Given the description of an element on the screen output the (x, y) to click on. 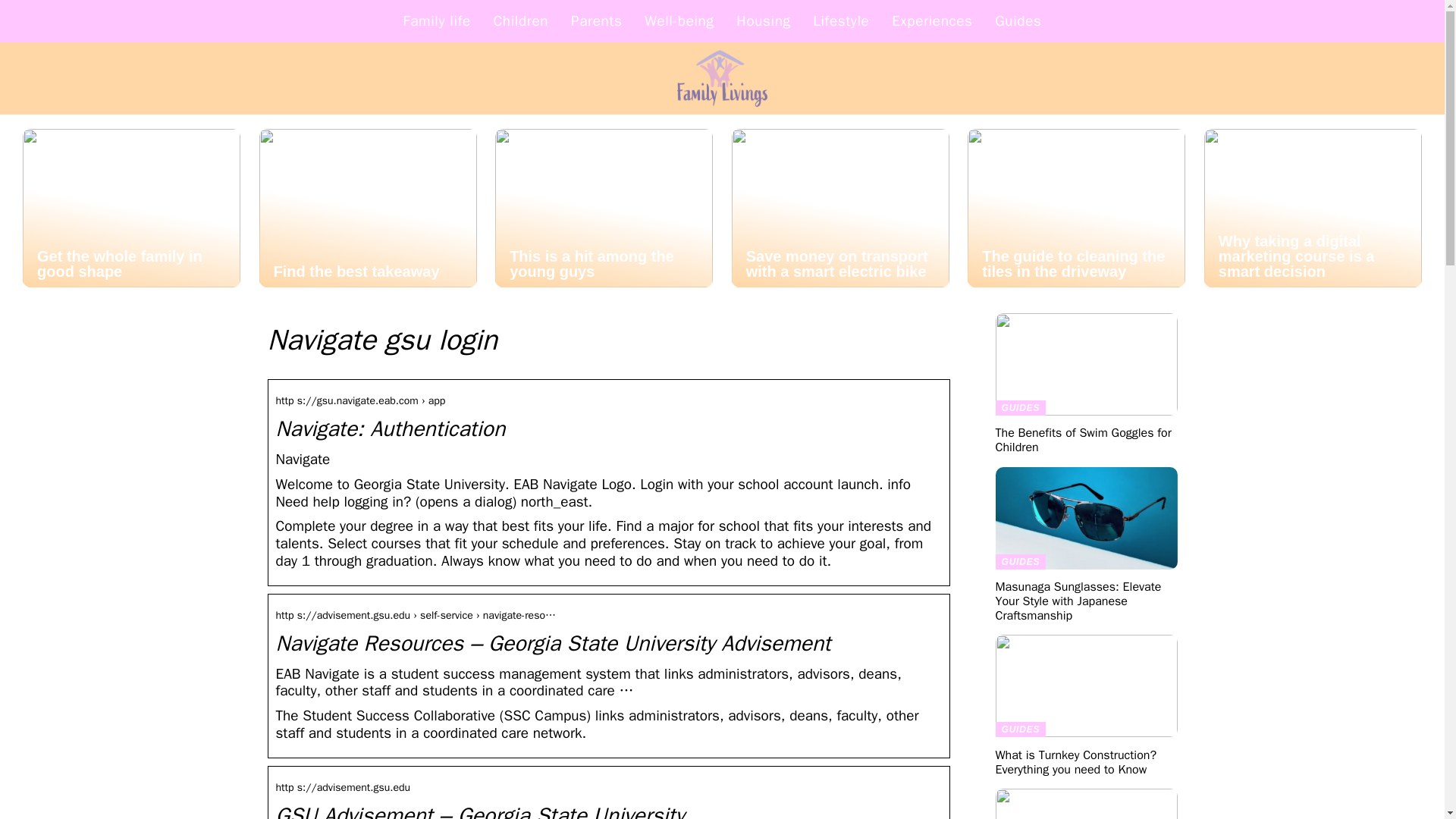
Family life (436, 21)
Save money on transport with a smart electric bike (840, 207)
This is a hit among the young guys (604, 207)
Children (520, 21)
Why taking a digital marketing course is a smart decision (1313, 207)
Guides (1017, 21)
Well-being (679, 21)
The guide to cleaning the tiles in the driveway (1076, 207)
Experiences (931, 21)
Find the best takeaway (368, 207)
Housing (763, 21)
